Given the description of an element on the screen output the (x, y) to click on. 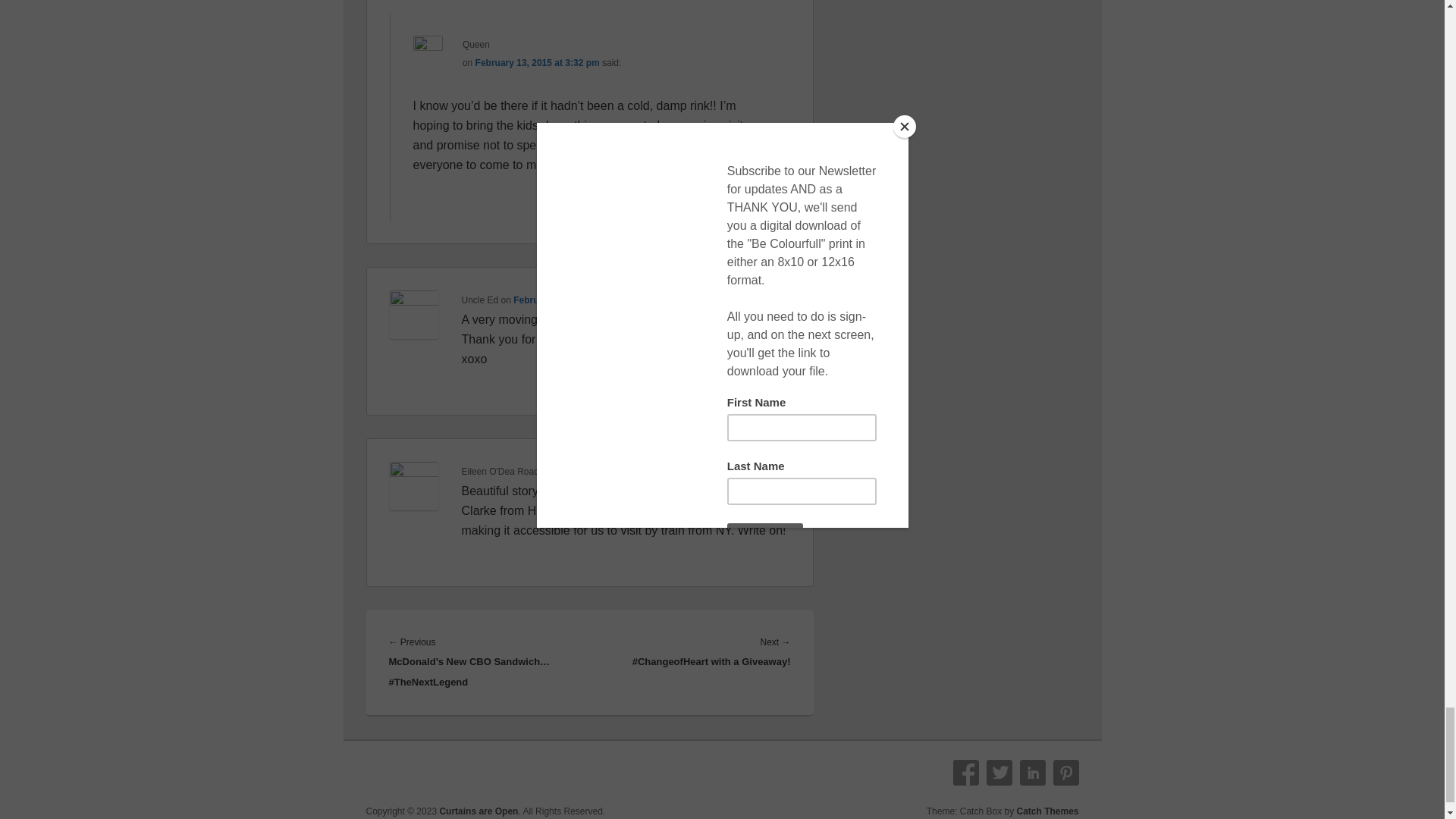
Catch Themes (1047, 810)
Curtains are Open (478, 810)
